Given the description of an element on the screen output the (x, y) to click on. 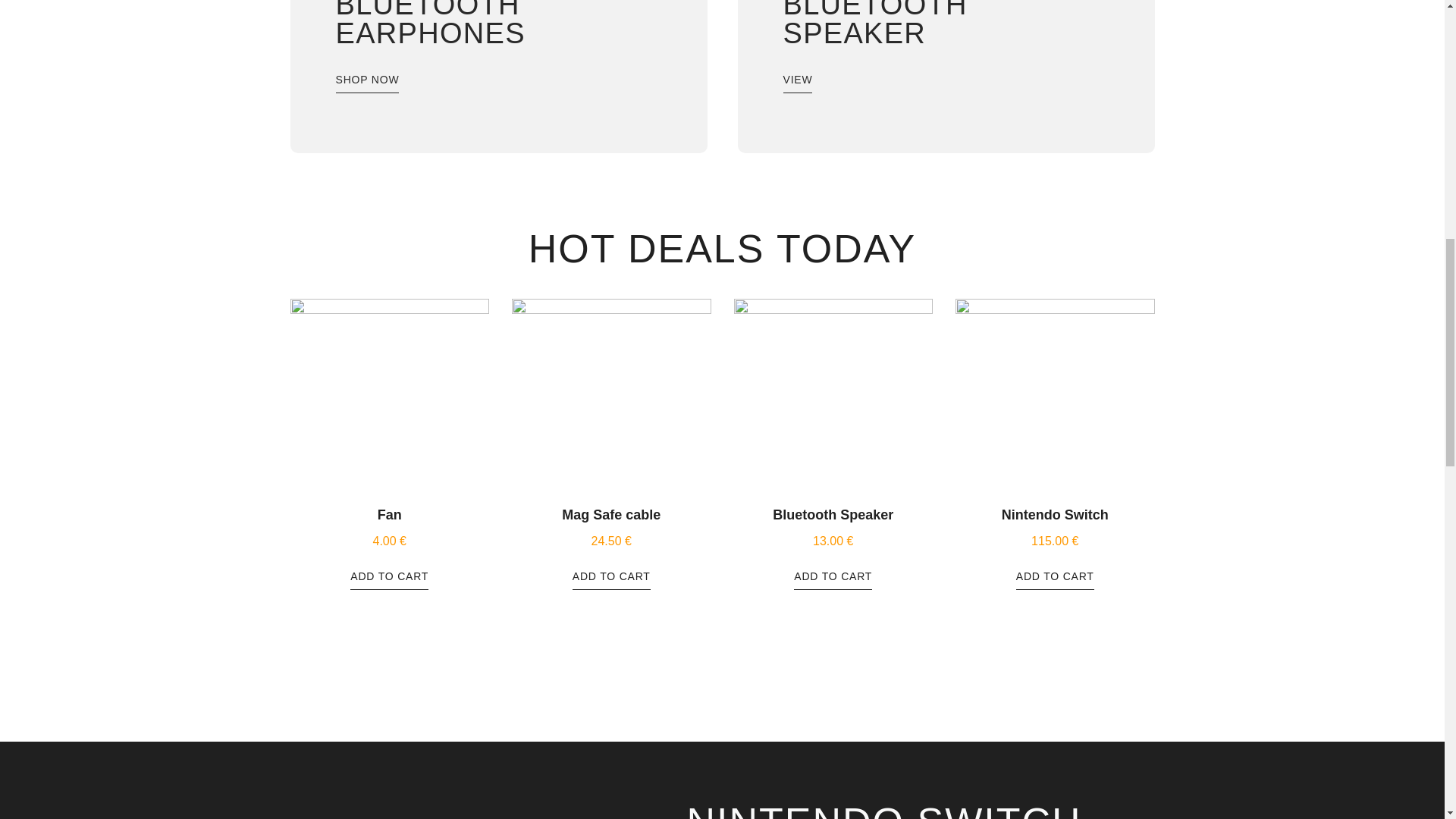
ADD TO CART (1055, 574)
ADD TO CART (611, 574)
VIEW (797, 83)
ADD TO CART (832, 574)
ADD TO CART (389, 574)
SHOP NOW (366, 83)
